Given the description of an element on the screen output the (x, y) to click on. 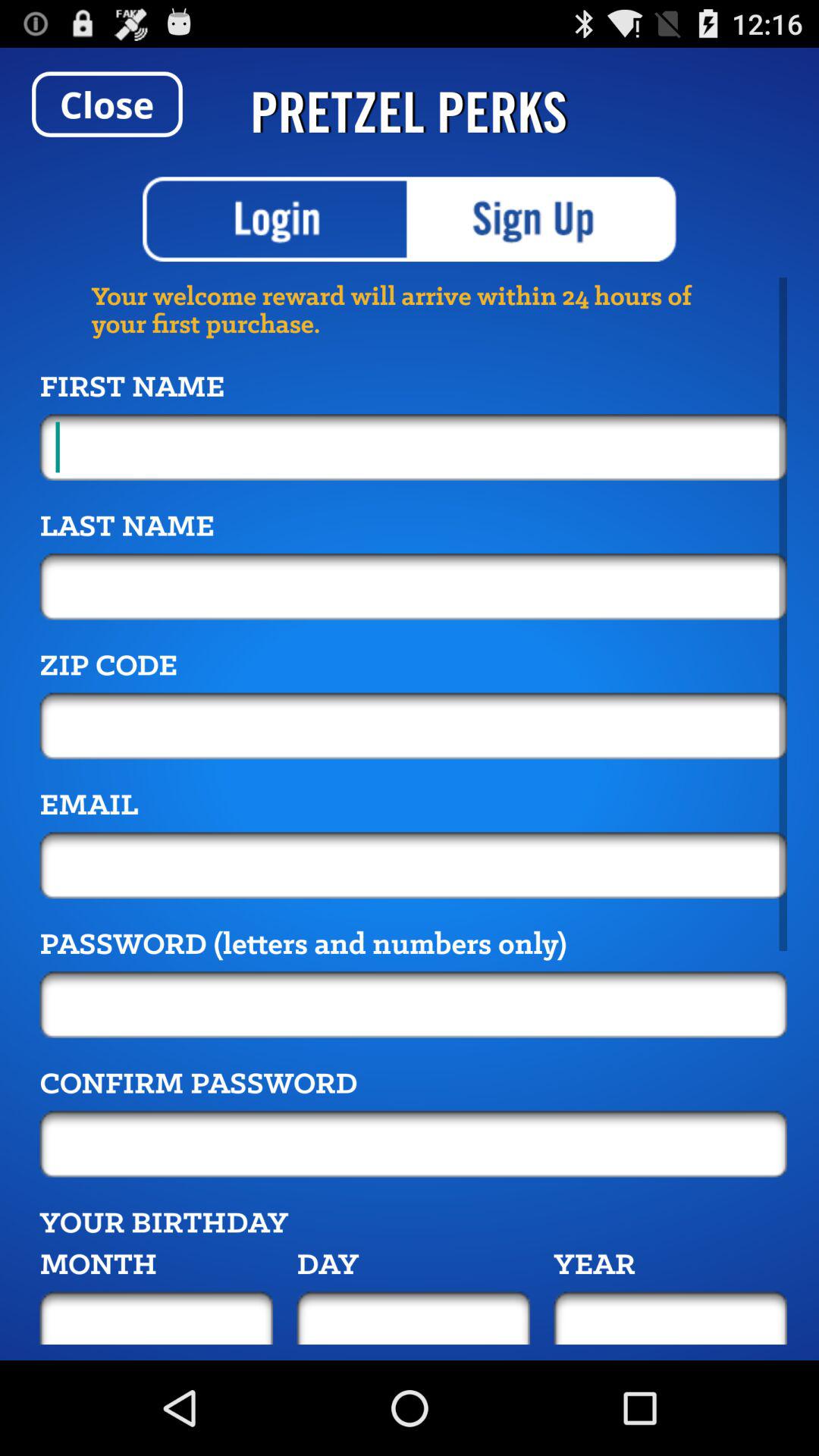
select the text field which is below the password letters and numbers only (413, 1004)
select the box below year (670, 1317)
click the signup button on the web page (543, 219)
click on the field below last name (413, 586)
